Given the description of an element on the screen output the (x, y) to click on. 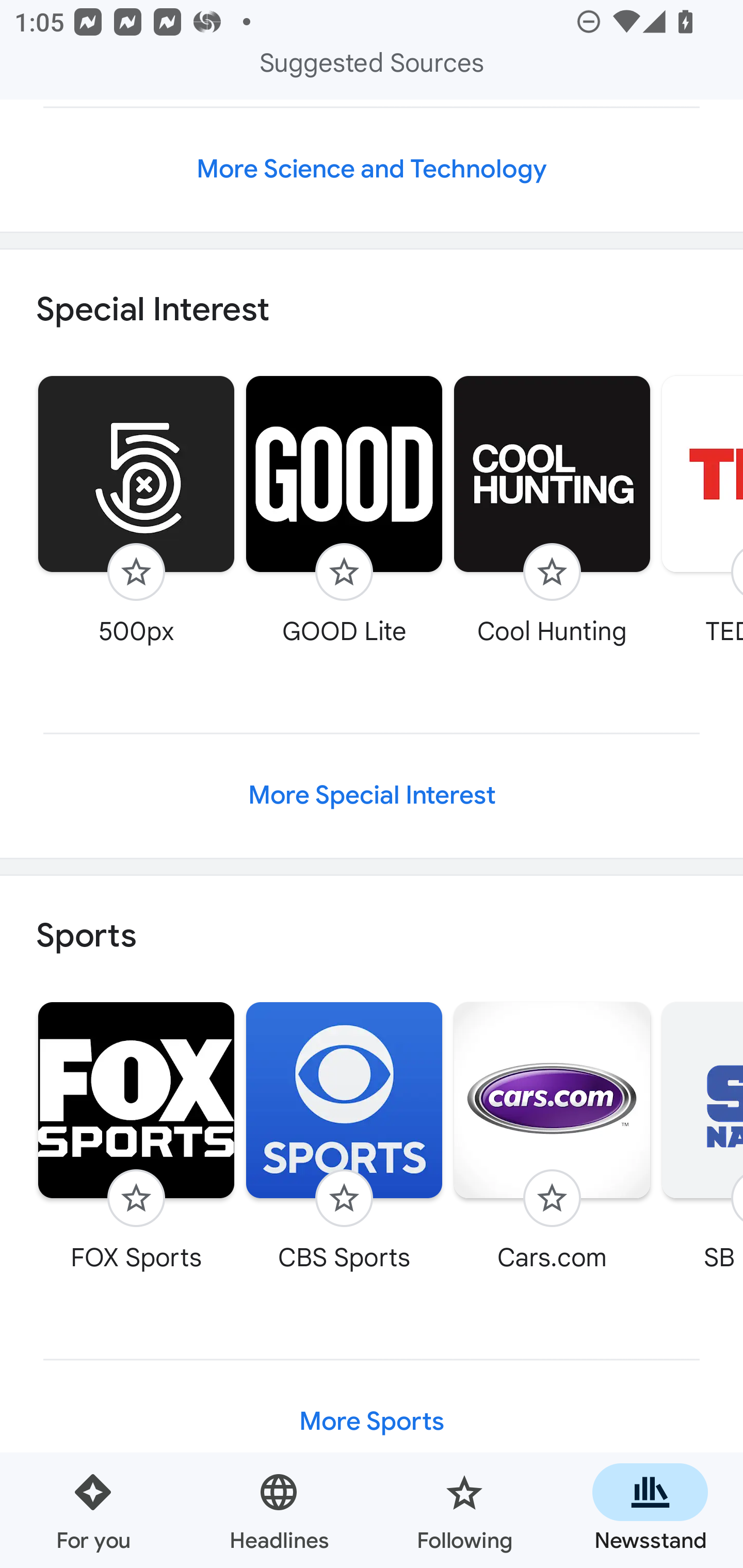
More Science and Technology (371, 169)
Special Interest (371, 309)
Follow 500px (136, 509)
Follow GOOD Lite (344, 509)
Follow Cool Hunting (552, 509)
Follow (135, 571)
Follow (343, 571)
Follow (552, 571)
More Special Interest (371, 795)
Sports (371, 936)
Follow FOX Sports (136, 1136)
Follow CBS Sports (344, 1136)
Follow Cars.com (552, 1136)
Follow (135, 1198)
Follow (343, 1198)
Follow (552, 1198)
More Sports (371, 1421)
For you (92, 1509)
Headlines (278, 1509)
Following (464, 1509)
Newsstand (650, 1509)
